Given the description of an element on the screen output the (x, y) to click on. 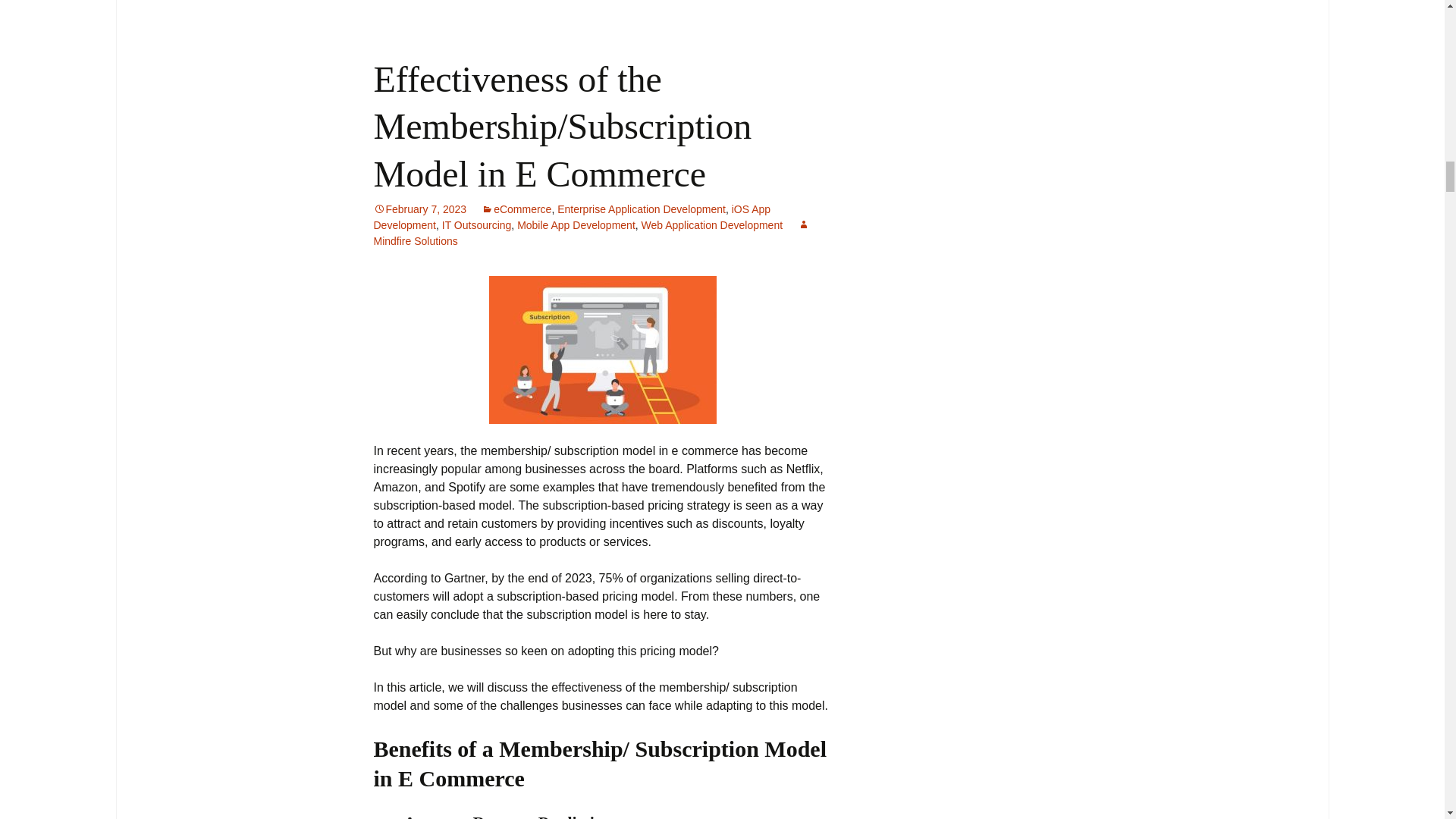
Mobile App Development (575, 224)
eCommerce (516, 209)
iOS App Development (571, 216)
IT Outsourcing (477, 224)
Enterprise Application Development (641, 209)
Web Application Development (712, 224)
February 7, 2023 (418, 209)
Mindfire Solutions (590, 233)
